Given the description of an element on the screen output the (x, y) to click on. 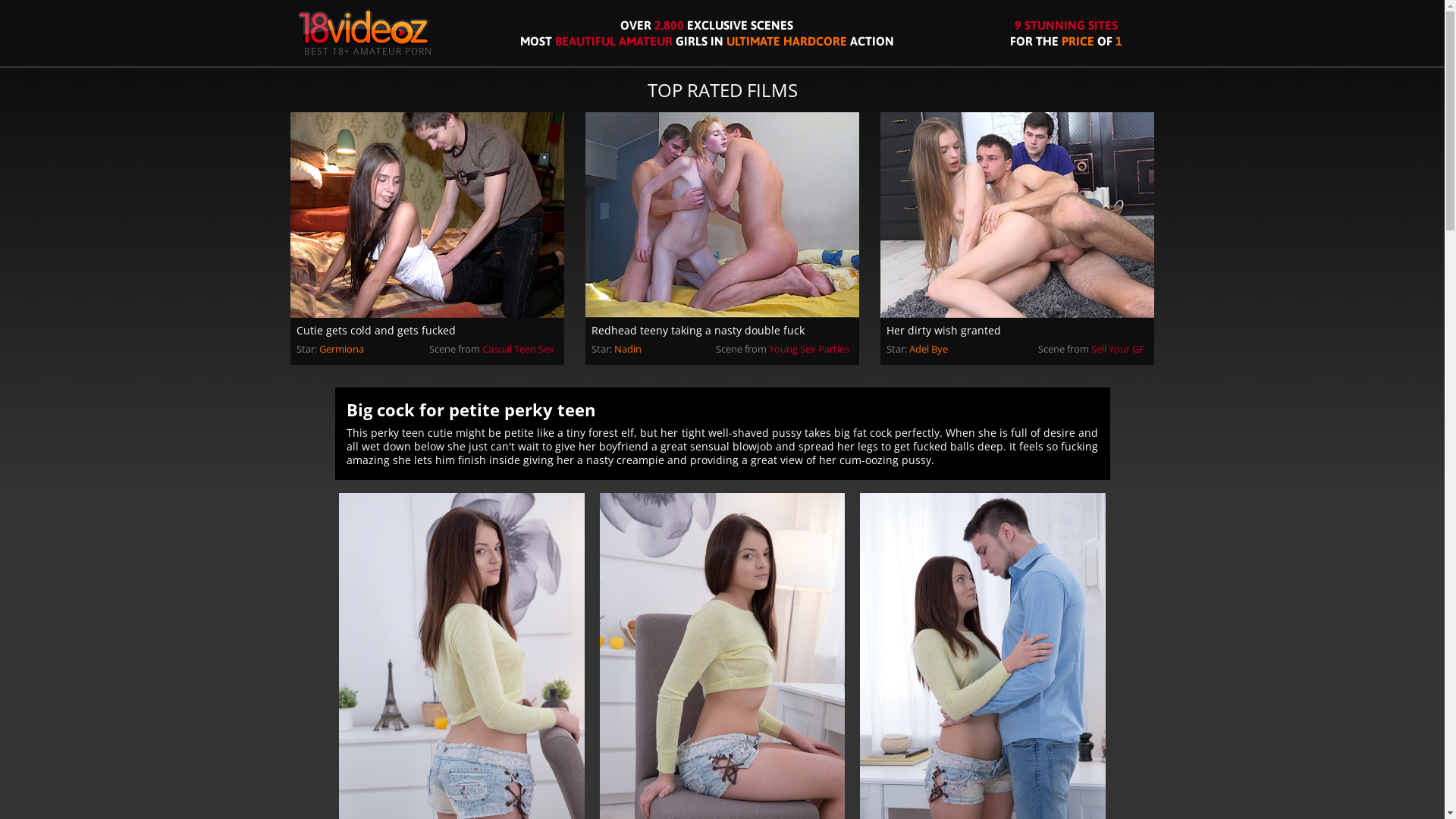
Her dirty wish granted Element type: text (1017, 330)
BEST 18+ AMATEUR PORN Element type: text (362, 32)
Cutie gets cold and gets fucked Element type: text (427, 330)
Redhead teeny taking a nasty double fuck Element type: text (722, 330)
